Given the description of an element on the screen output the (x, y) to click on. 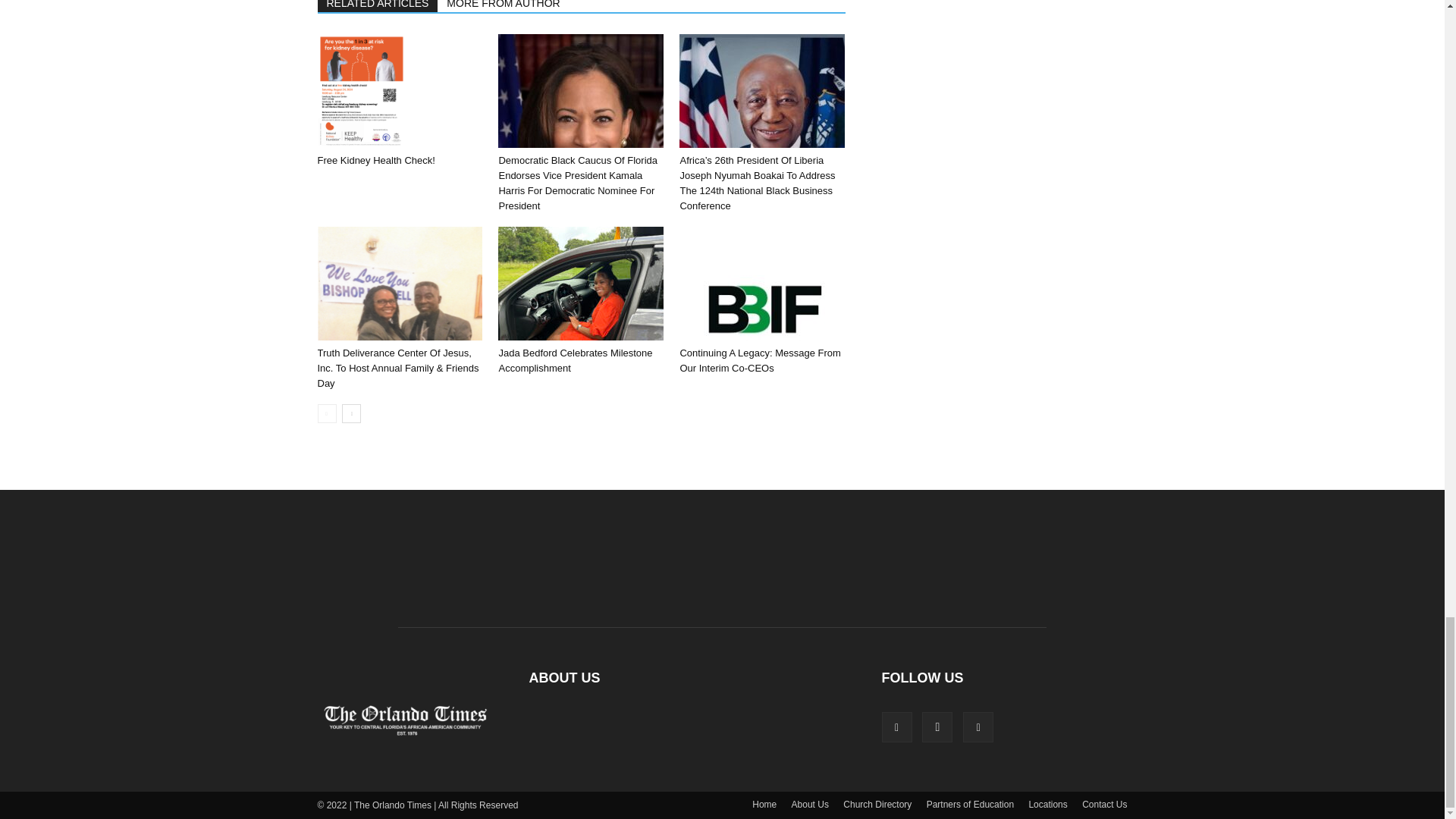
Free Kidney Health Check! (375, 160)
RELATED ARTICLES (377, 6)
MORE FROM AUTHOR (503, 6)
